Given the description of an element on the screen output the (x, y) to click on. 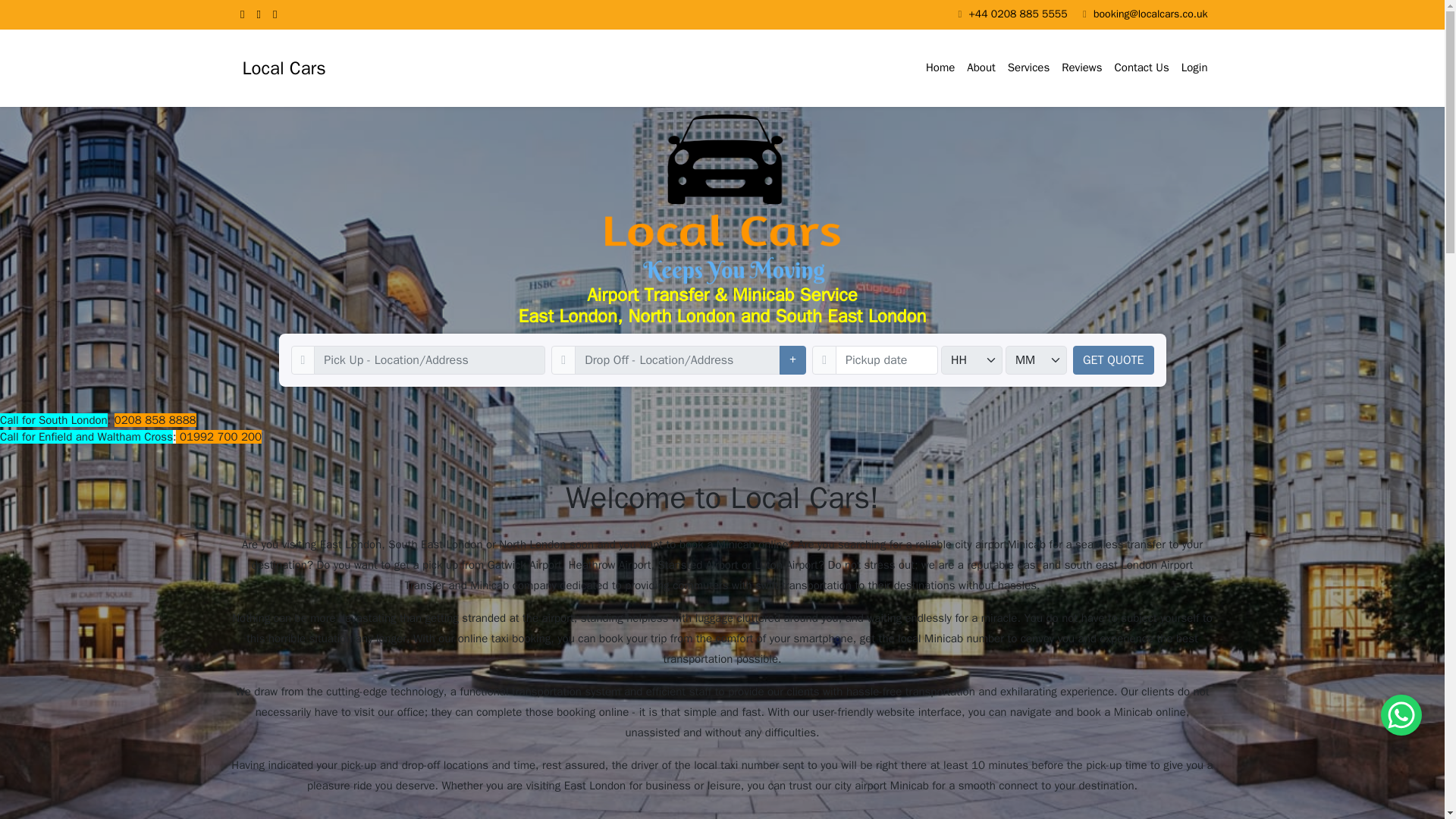
GET QUOTE (1113, 359)
About (980, 67)
Contact Us (1141, 67)
Services (1028, 67)
Login (1194, 67)
Reviews (1081, 67)
Local Cars (283, 67)
Home (940, 67)
